Given the description of an element on the screen output the (x, y) to click on. 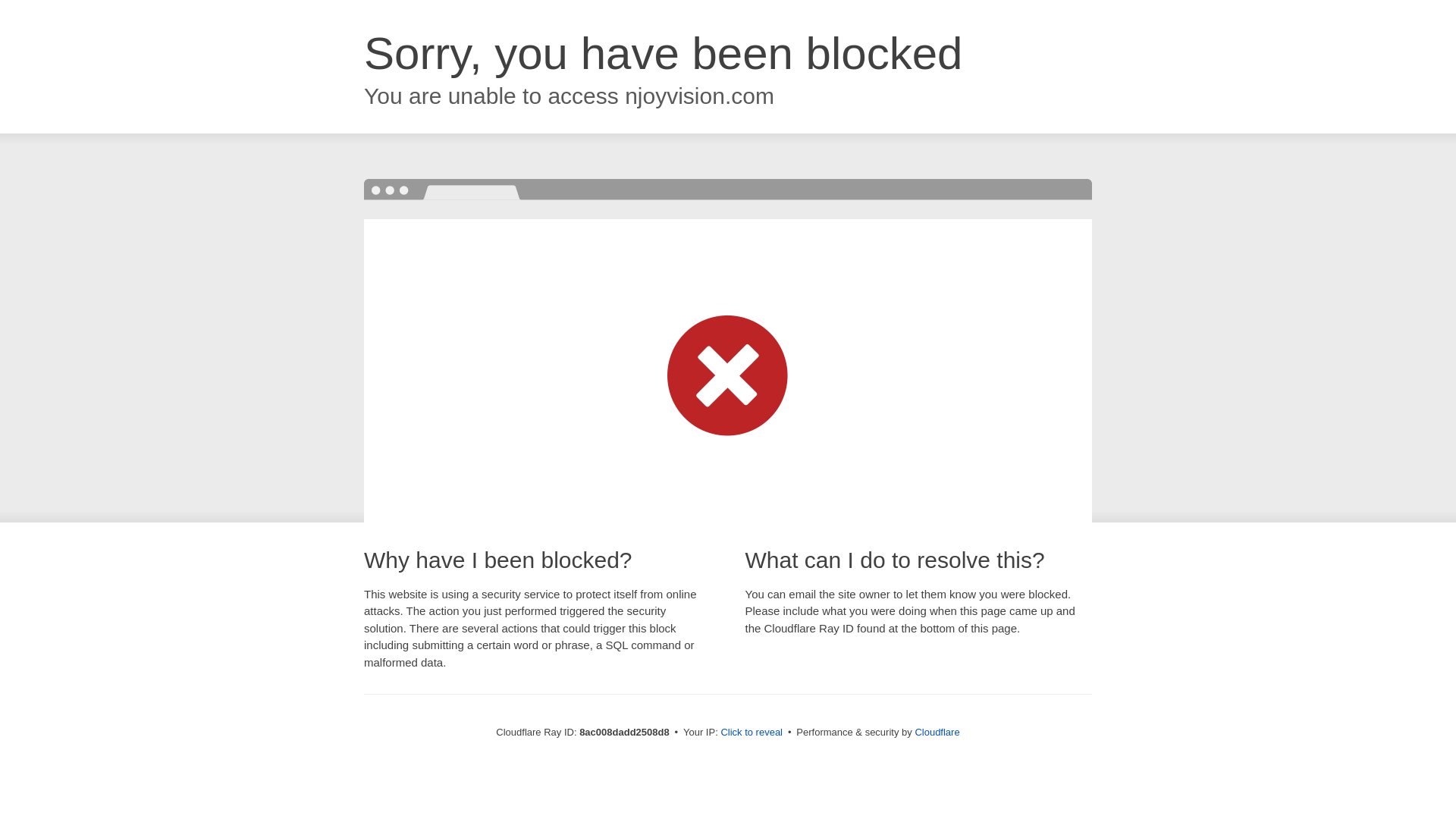
Cloudflare (936, 731)
Click to reveal (751, 732)
